Given the description of an element on the screen output the (x, y) to click on. 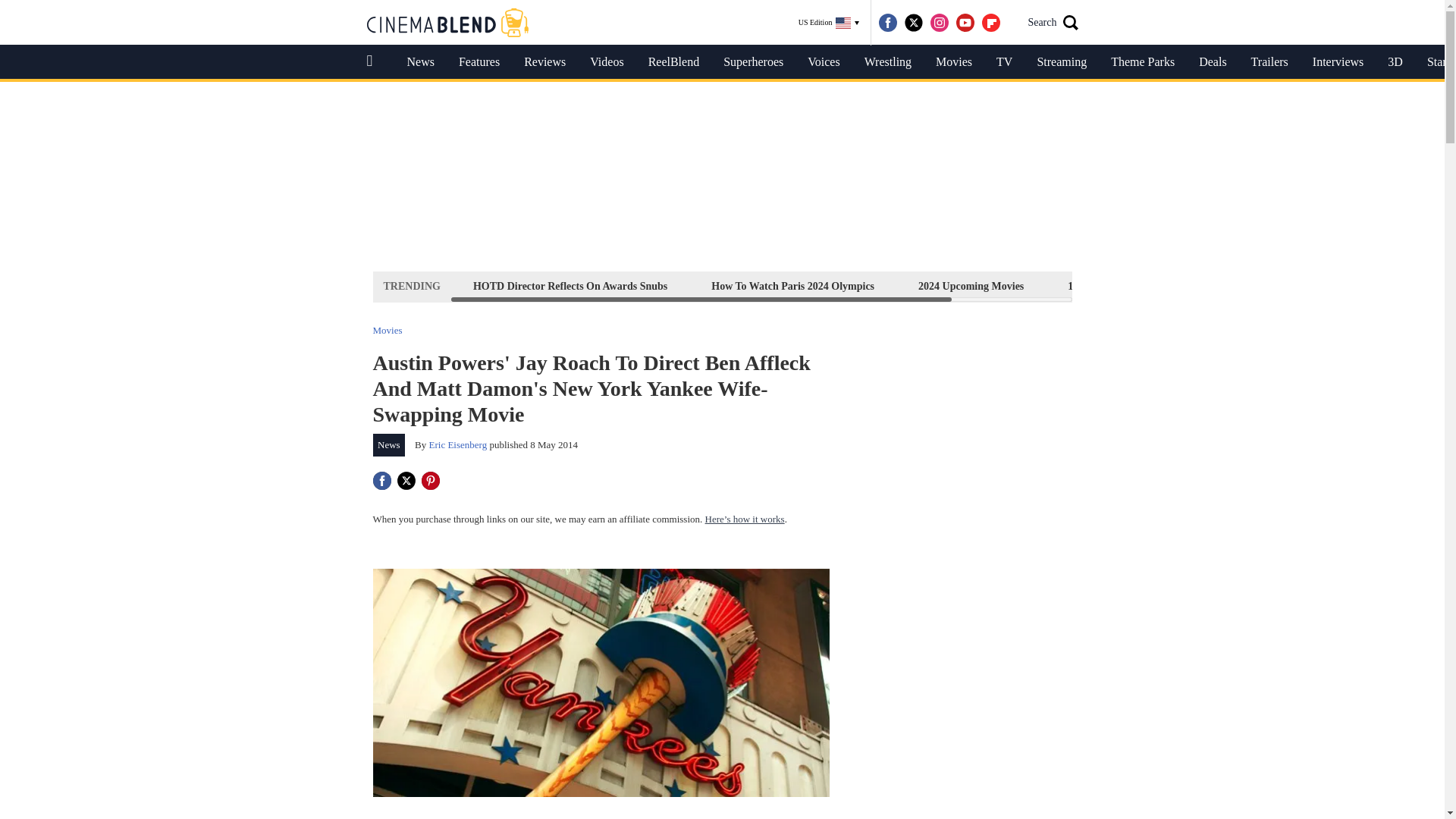
Wrestling (887, 61)
Interviews (1337, 61)
100 Best Sitcoms Of All Time (1133, 286)
News (419, 61)
Voices (822, 61)
ReelBlend (673, 61)
3D (1395, 61)
Theme Parks (1142, 61)
Videos (606, 61)
HOTD Director Reflects On Awards Snubs (569, 286)
Streaming (1062, 61)
News (389, 445)
Movies (387, 329)
2024 Upcoming Movies (970, 286)
Superheroes (752, 61)
